Given the description of an element on the screen output the (x, y) to click on. 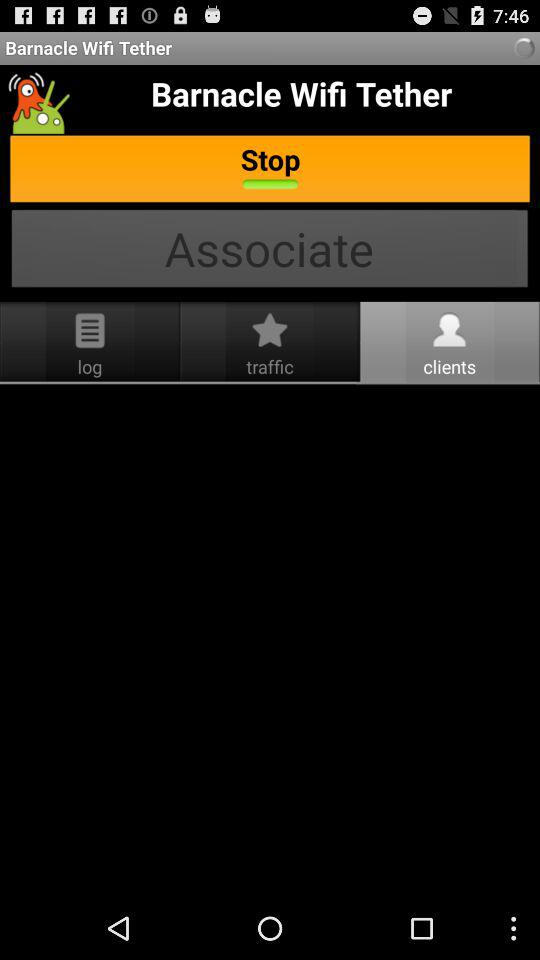
empty page (270, 641)
